Given the description of an element on the screen output the (x, y) to click on. 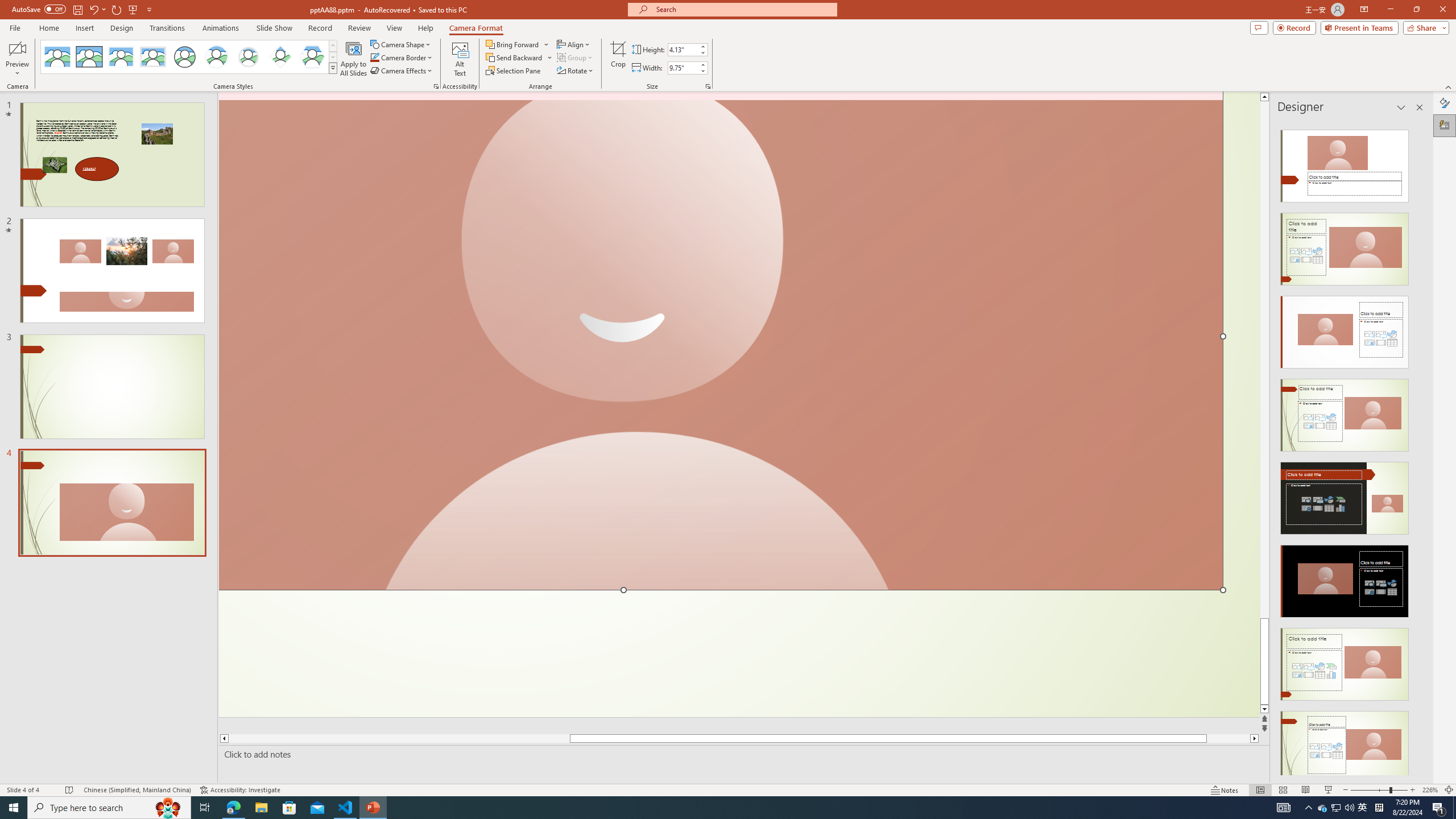
Soft Edge Rectangle (152, 56)
Center Shadow Rectangle (120, 56)
Zoom 226% (1430, 790)
AutomationID: CameoStylesGallery (189, 56)
Camera Format (475, 28)
